Given the description of an element on the screen output the (x, y) to click on. 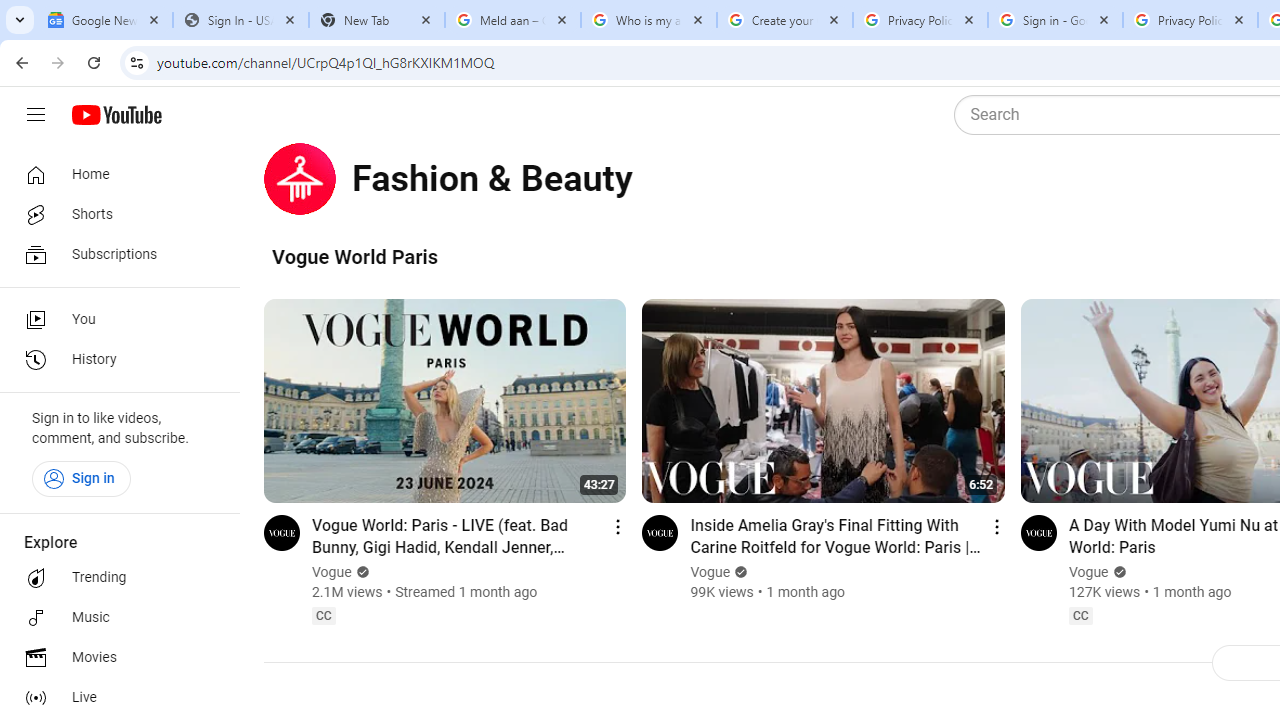
Live (113, 697)
Shorts (113, 214)
Create your Google Account (784, 20)
Sign in - Google Accounts (1055, 20)
